Given the description of an element on the screen output the (x, y) to click on. 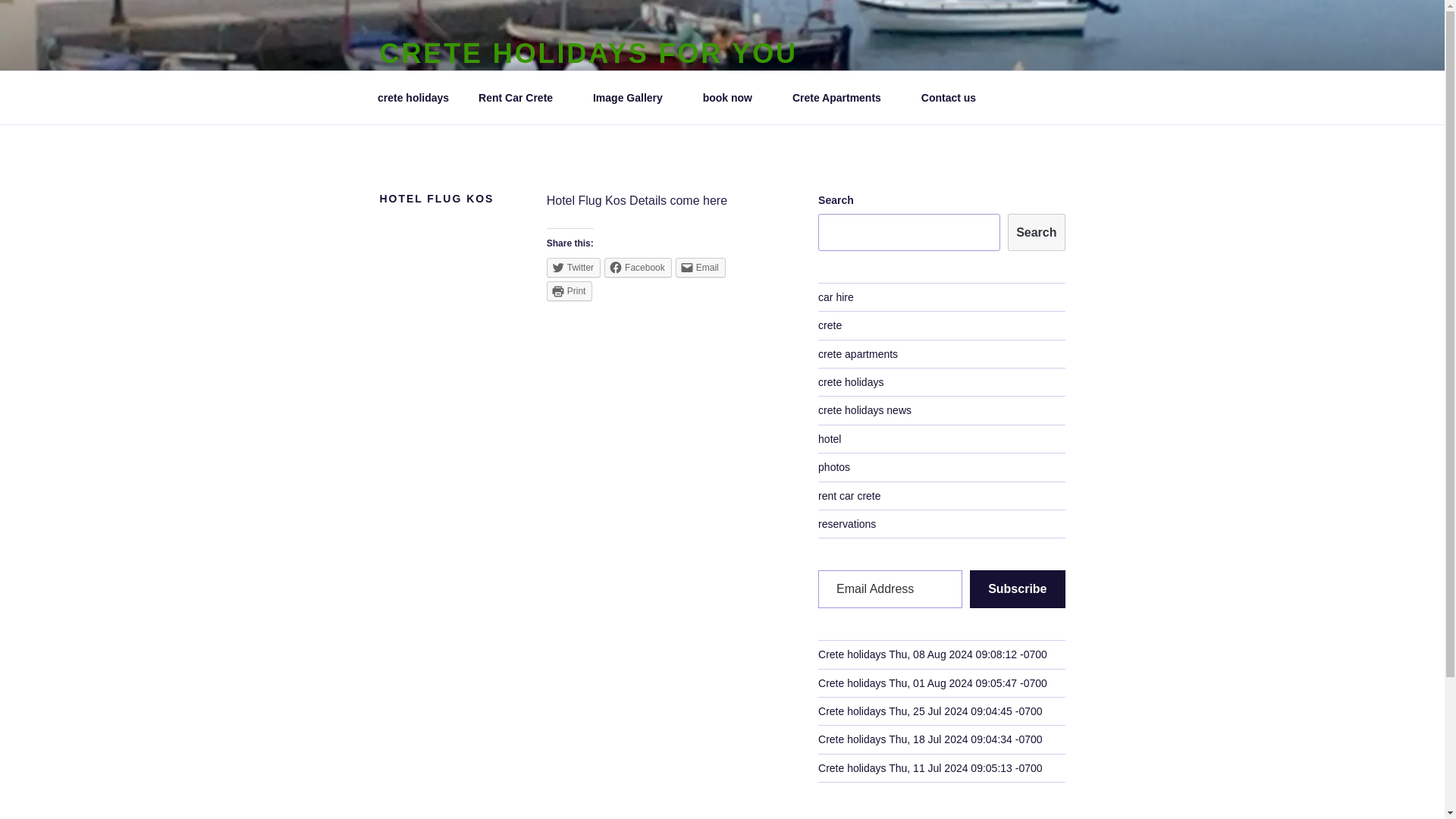
Image Gallery (632, 97)
book now (732, 97)
crete apartments (858, 354)
CRETE HOLIDAYS FOR YOU (587, 52)
Crete holidays Thu, 01 Aug 2024 09:05:47 -0700 (932, 683)
crete (829, 325)
Crete holidays Thu, 08 Aug 2024 09:08:12 -0700 (932, 654)
Email (700, 267)
hotel (829, 439)
crete holidays (850, 381)
